Given the description of an element on the screen output the (x, y) to click on. 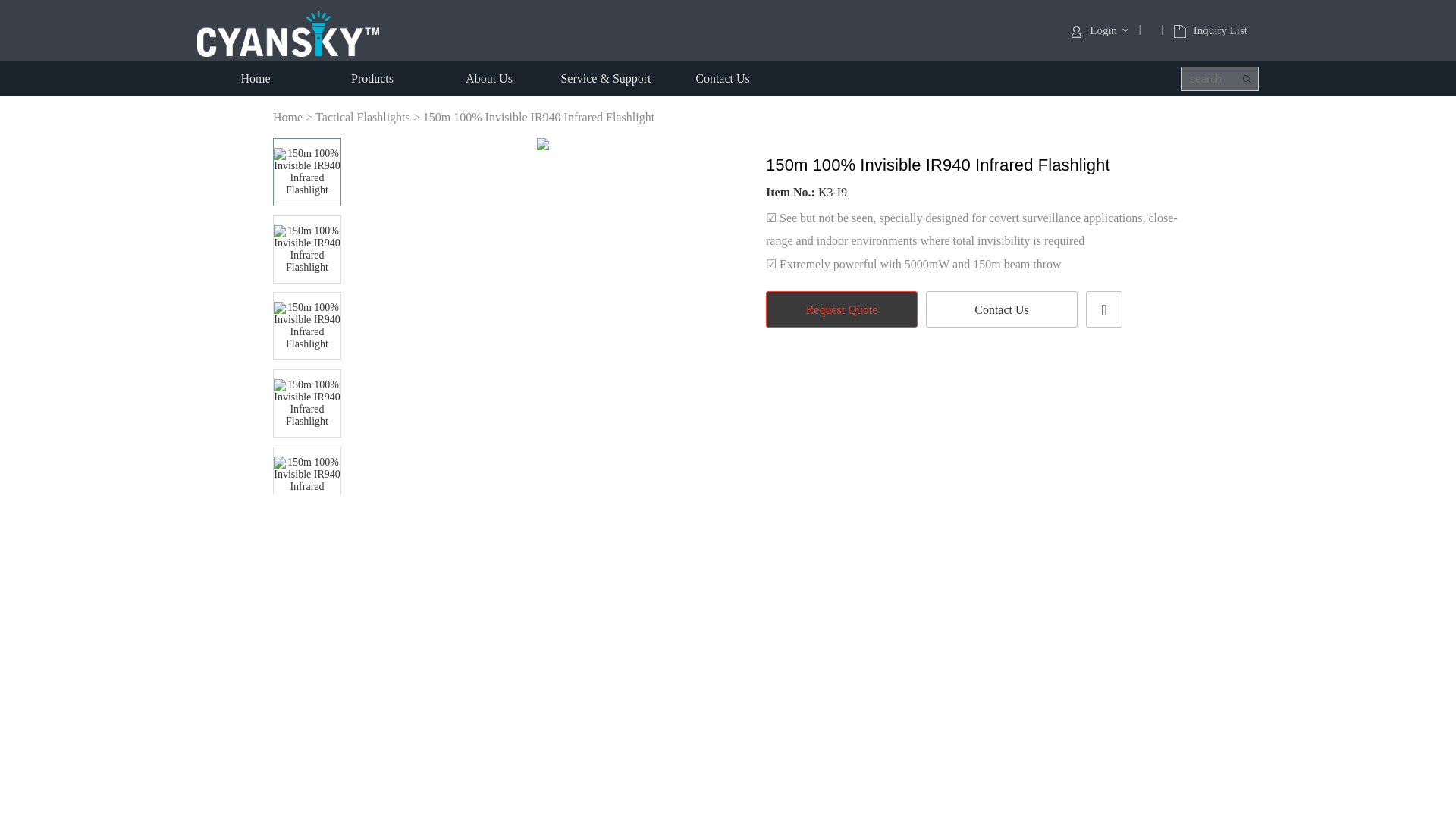
Products (372, 78)
About Us (488, 78)
Home (255, 78)
